Given the description of an element on the screen output the (x, y) to click on. 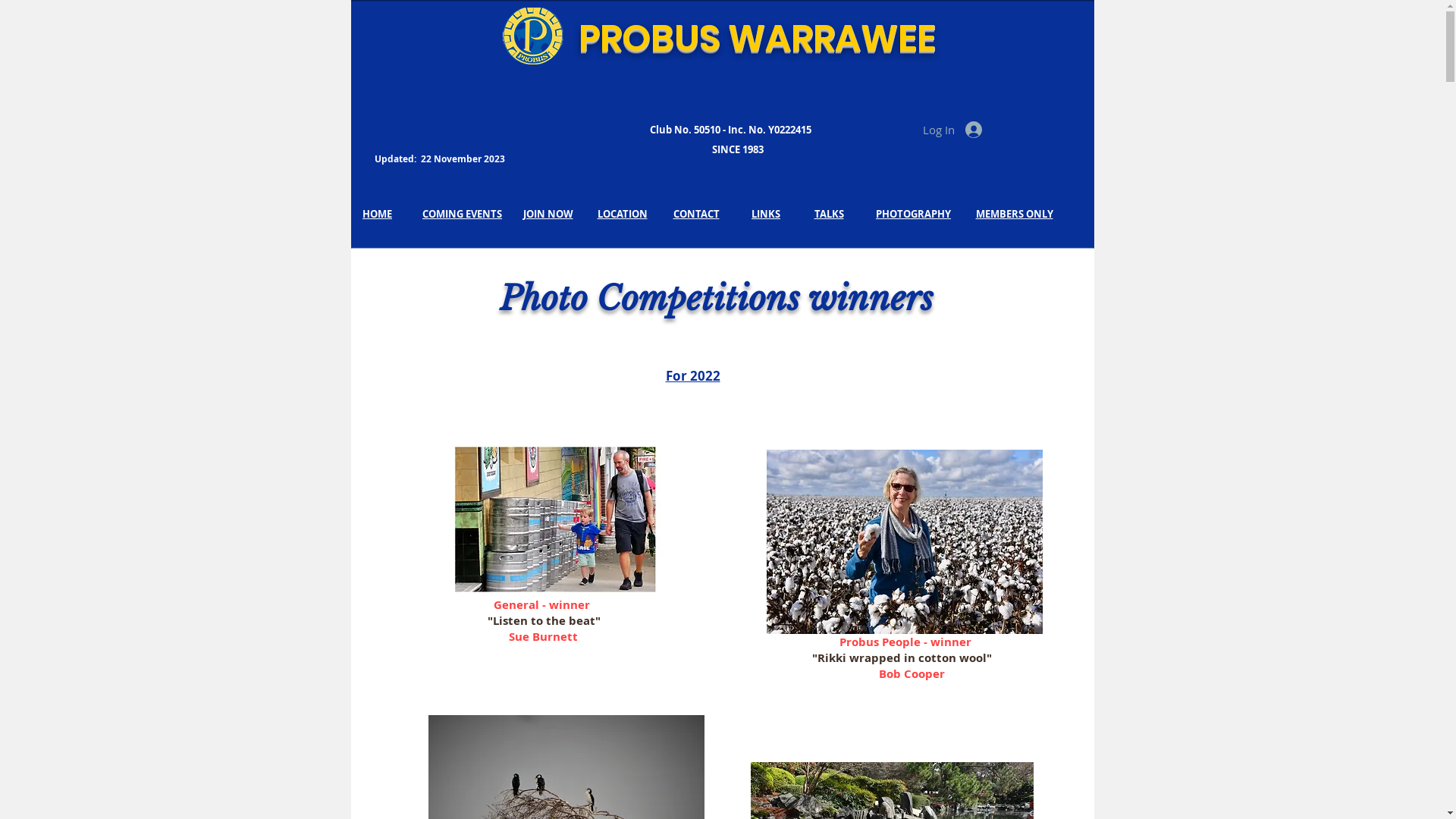
PHOTOGRAPHY Element type: text (912, 212)
CONTACT Element type: text (696, 212)
For 2022 Element type: text (692, 375)
HOME Element type: text (377, 212)
LINKS Element type: text (765, 212)
Log In Element type: text (951, 129)
TALKS Element type: text (829, 212)
JOIN NOW Element type: text (548, 212)
probus_logo_edited_edited_edited.png Element type: hover (532, 35)
LOCATION Element type: text (622, 212)
MEMBERS ONLY Element type: text (1013, 212)
COMING EVENTS Element type: text (462, 212)
